Given the description of an element on the screen output the (x, y) to click on. 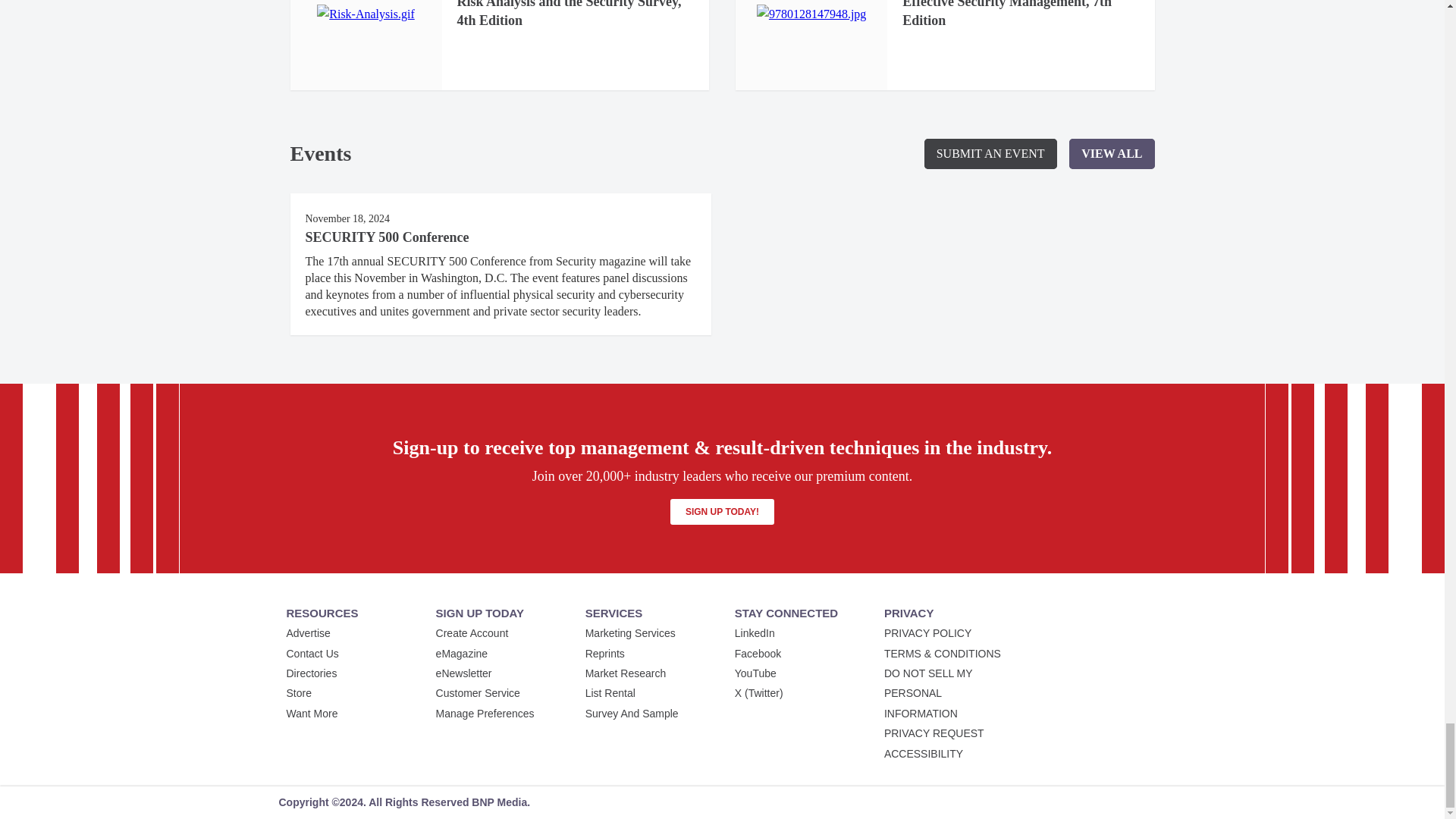
9780128147948.jpg (811, 14)
Risk-Analysis.gif (365, 14)
